Given the description of an element on the screen output the (x, y) to click on. 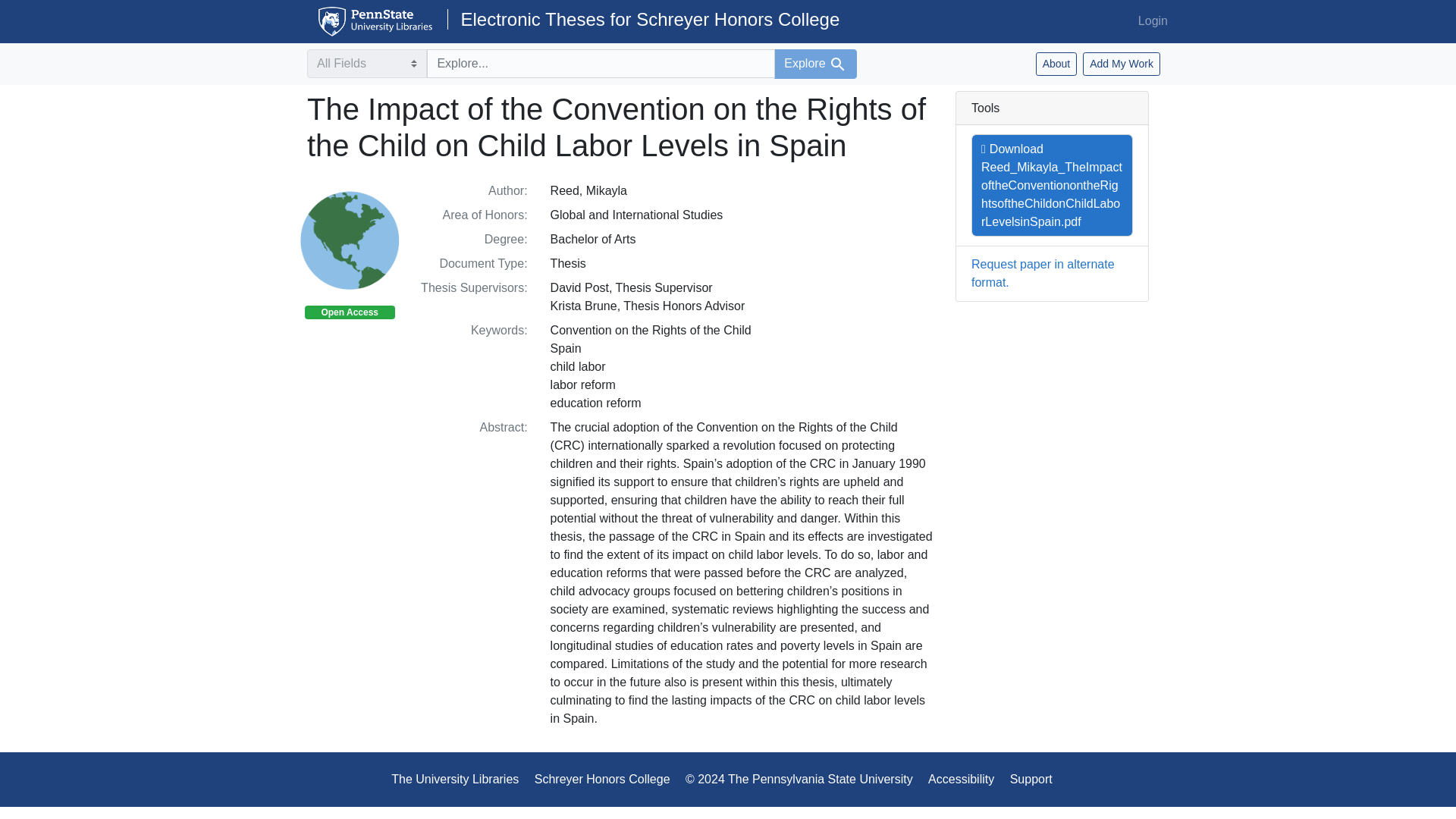
Explore Search (815, 63)
Add My Work (1121, 64)
Accessibility (967, 779)
Electronic Theses for Schreyer Honors College (643, 19)
About (1056, 64)
Targeted search options (366, 63)
Skip to main content (39, 9)
The University Libraries (461, 779)
Login (1152, 20)
Search (837, 64)
Schreyer Honors College (608, 779)
Request paper in alternate format. (1043, 273)
Support (1037, 779)
Skip to search (37, 9)
